Given the description of an element on the screen output the (x, y) to click on. 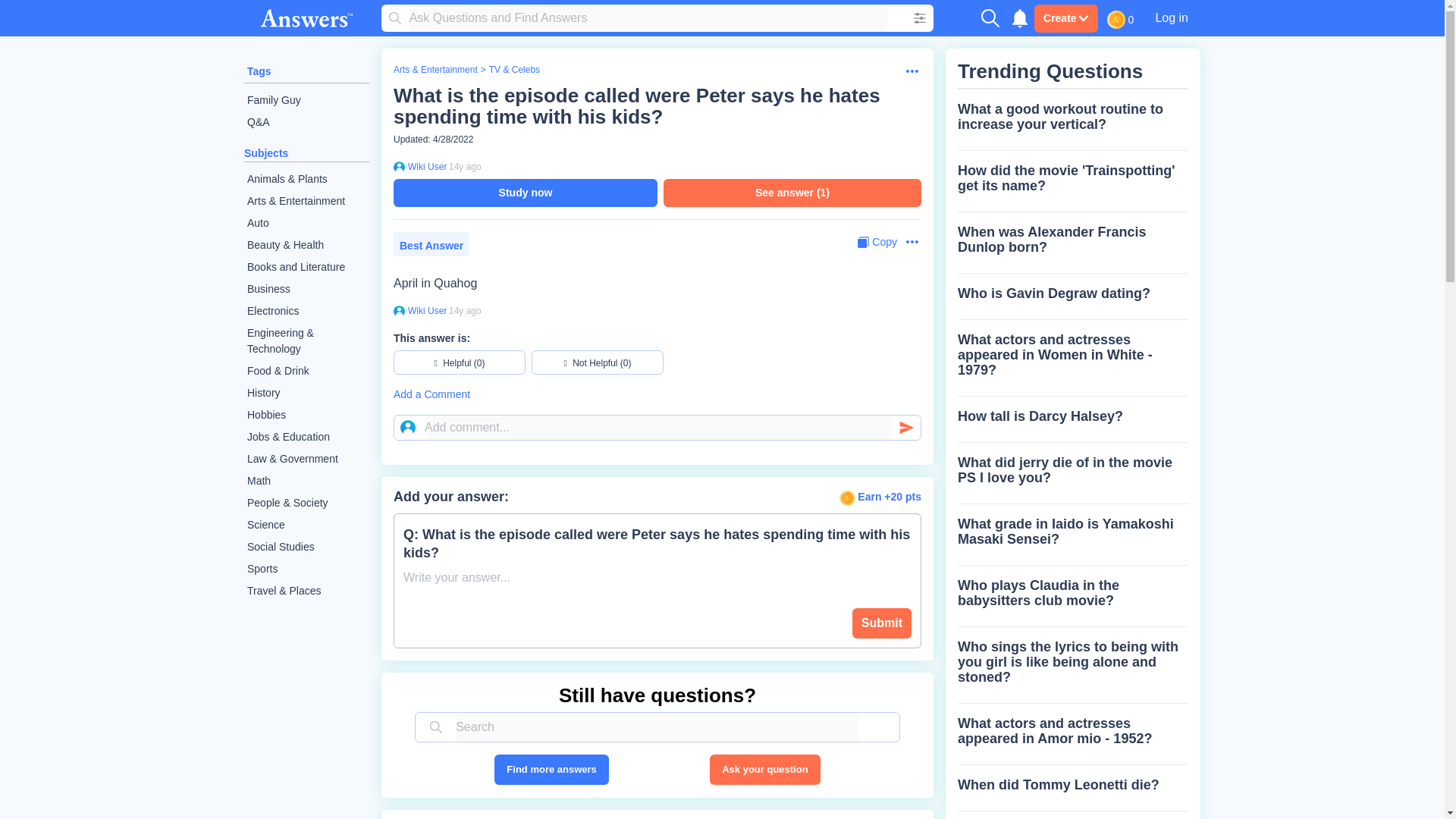
Wiki User (425, 310)
Books and Literature (306, 267)
Wiki User (425, 166)
Sports (306, 568)
Business (306, 289)
2010-04-22 03:48:14 (464, 310)
Subjects (266, 152)
Log in (1170, 17)
Social Studies (306, 546)
